Given the description of an element on the screen output the (x, y) to click on. 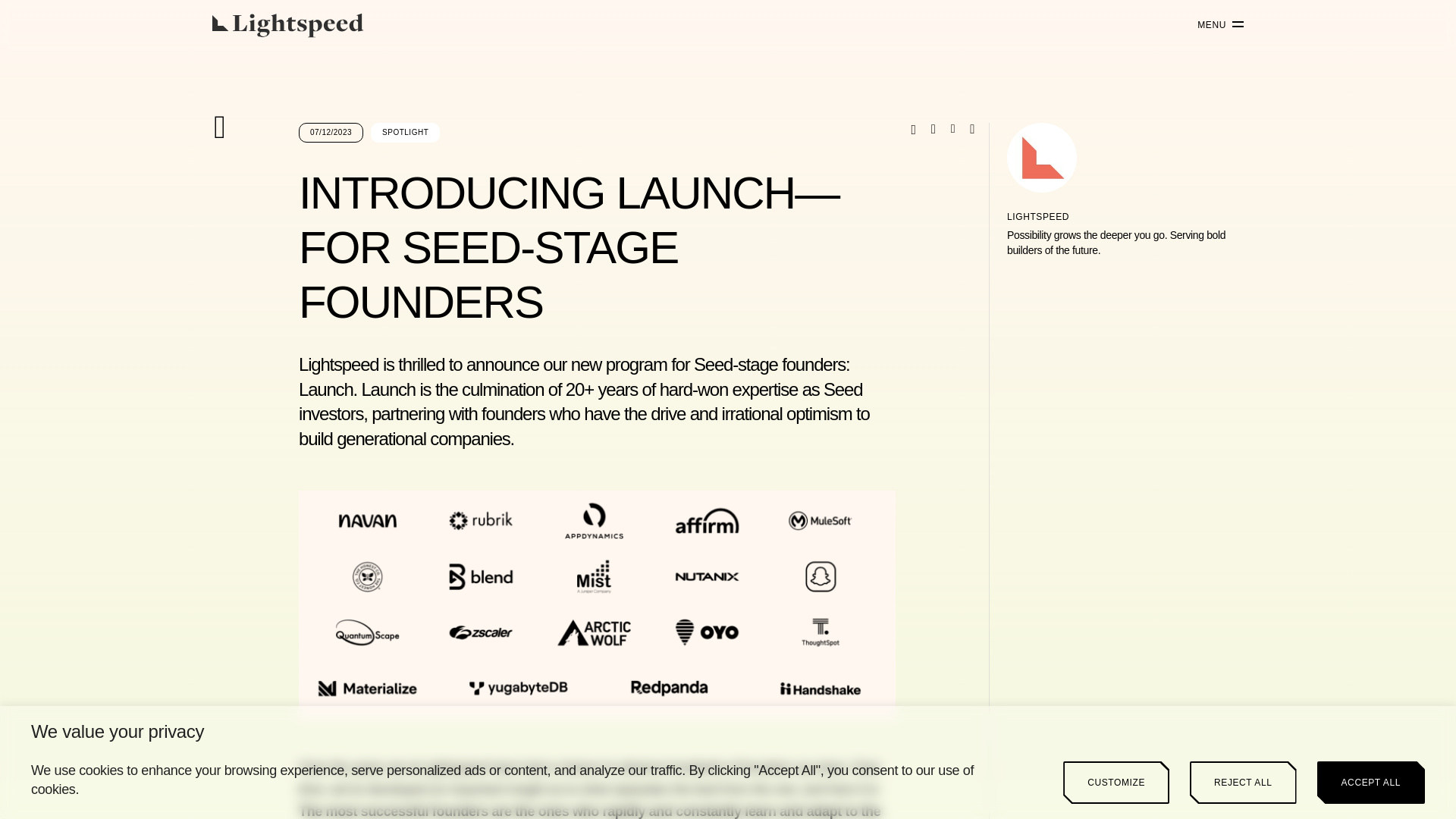
REJECT ALL (1242, 782)
MENU (1214, 25)
CUSTOMIZE (1115, 782)
ACCEPT ALL (1371, 782)
